Given the description of an element on the screen output the (x, y) to click on. 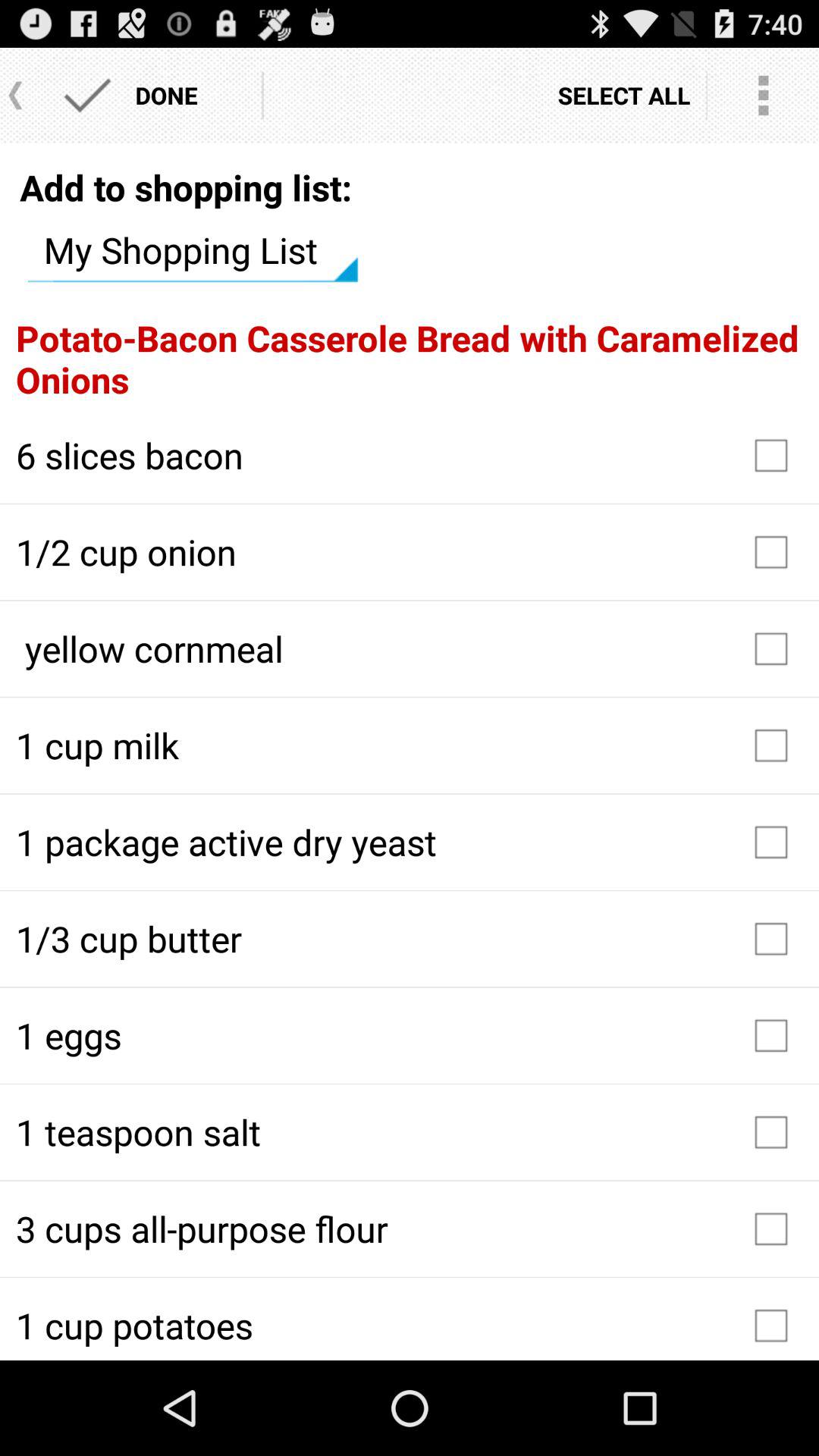
flip until 6 slices bacon item (409, 455)
